Given the description of an element on the screen output the (x, y) to click on. 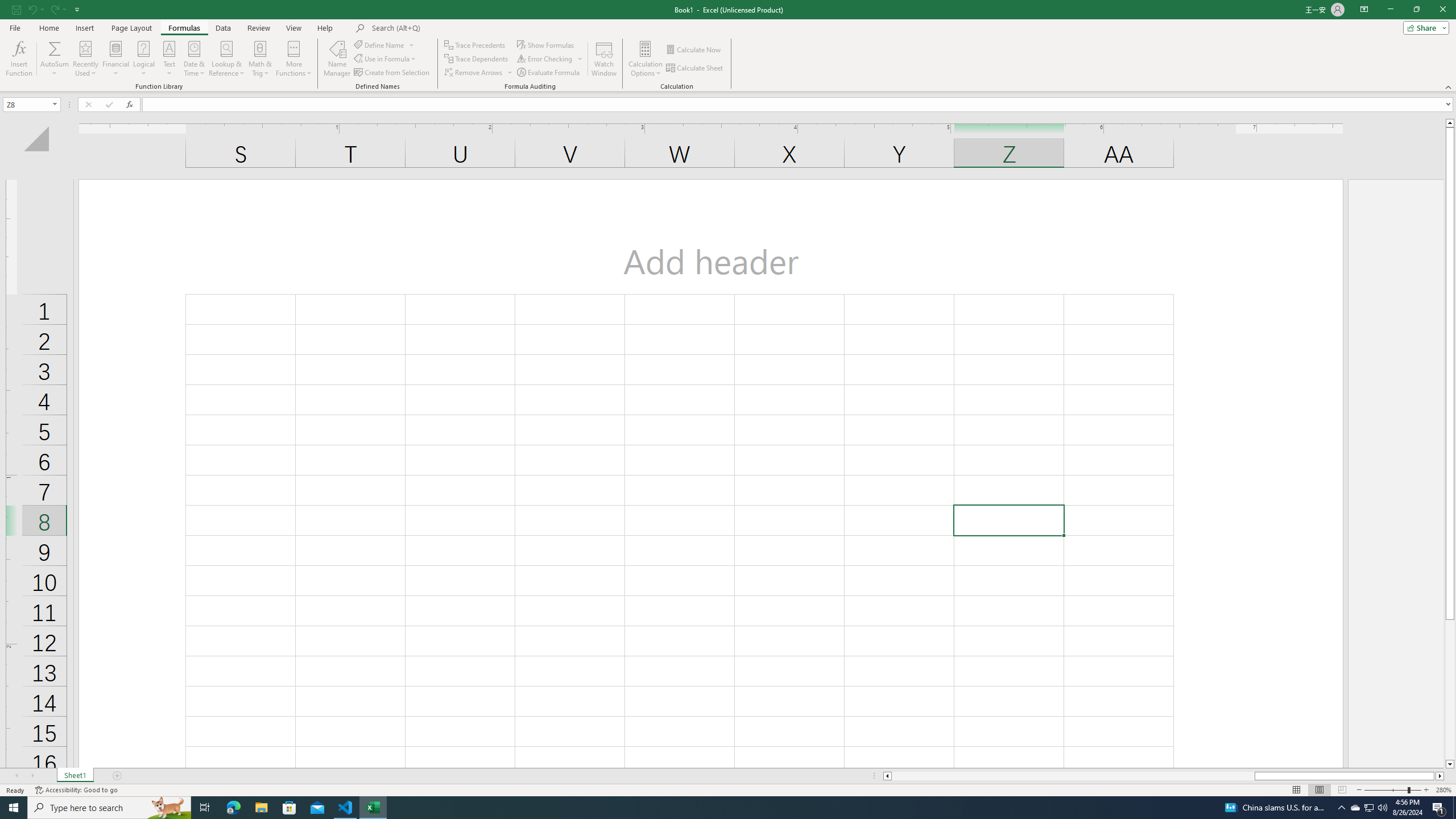
Error Checking... (550, 58)
Define Name (384, 44)
Lookup & Reference (227, 58)
Calculate Now (694, 49)
Calculate Sheet (694, 67)
Class: MsoCommandBar (728, 45)
